Given the description of an element on the screen output the (x, y) to click on. 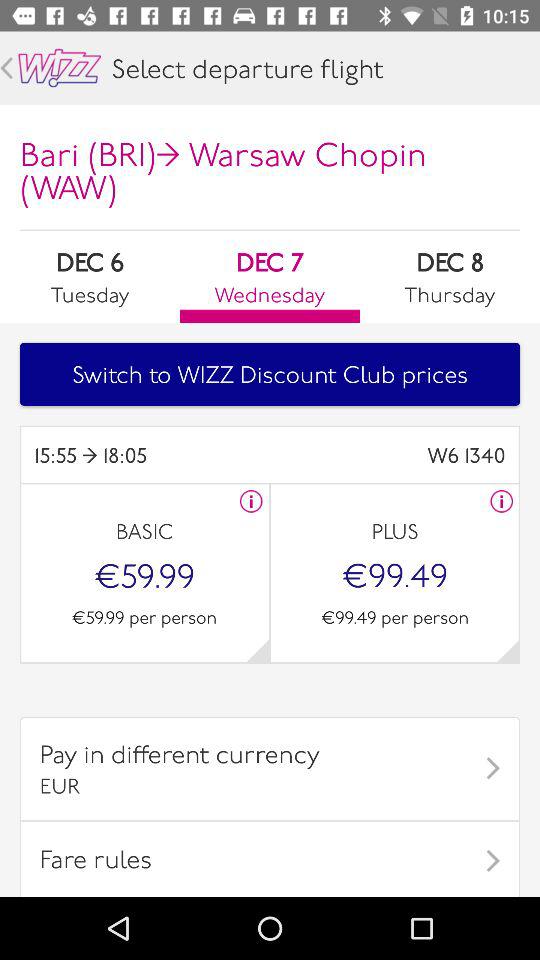
rate information (251, 501)
